Given the description of an element on the screen output the (x, y) to click on. 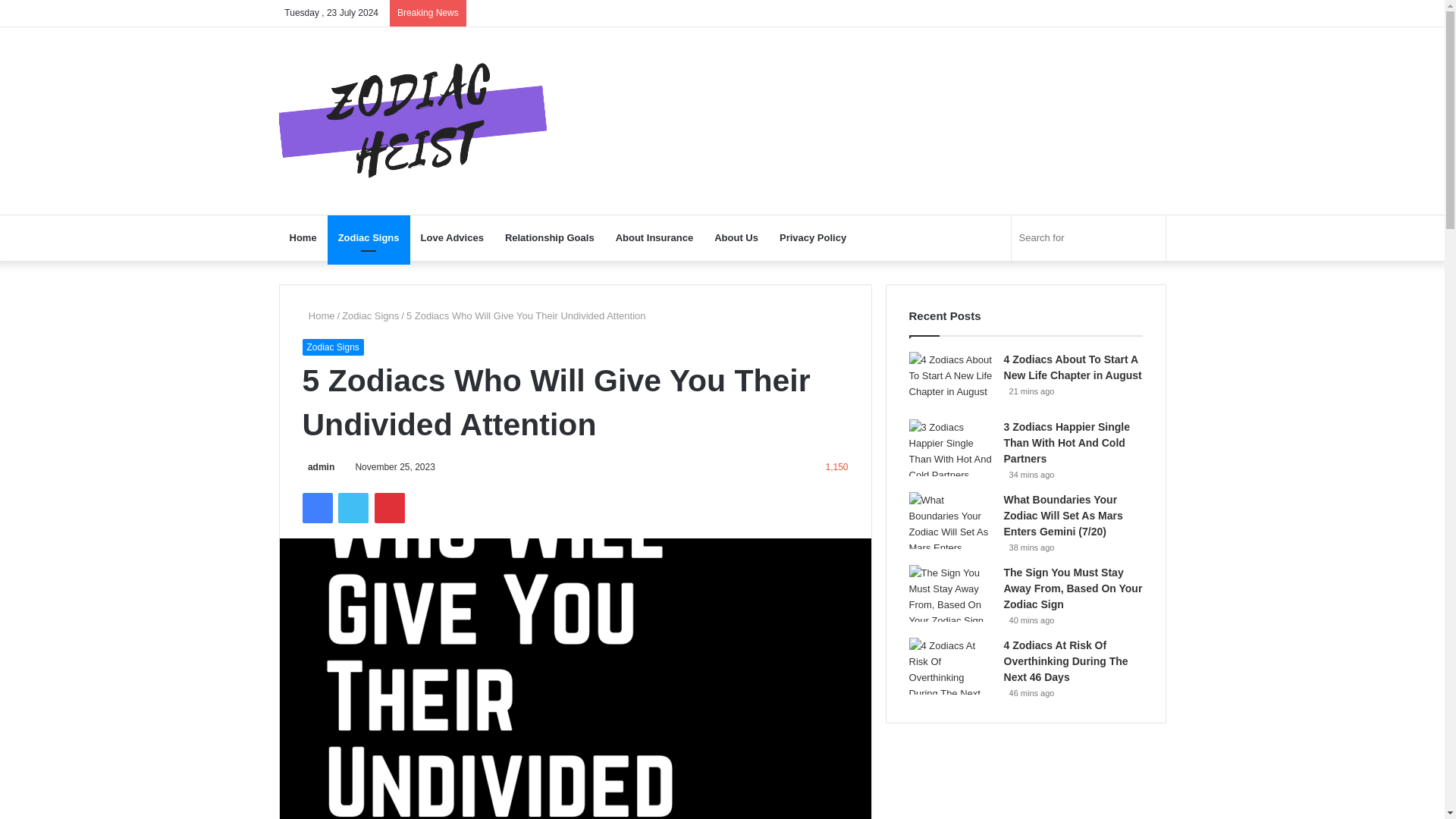
admin (317, 466)
Pinterest (389, 508)
Zodiac Signs (370, 315)
Home (303, 238)
Zodiac Heist (414, 120)
About Insurance (654, 238)
Search for (1149, 238)
About Us (735, 238)
Pinterest (389, 508)
Love Advices (452, 238)
Search for (1088, 238)
Zodiac Signs (331, 347)
admin (317, 466)
Twitter (352, 508)
Facebook (316, 508)
